Given the description of an element on the screen output the (x, y) to click on. 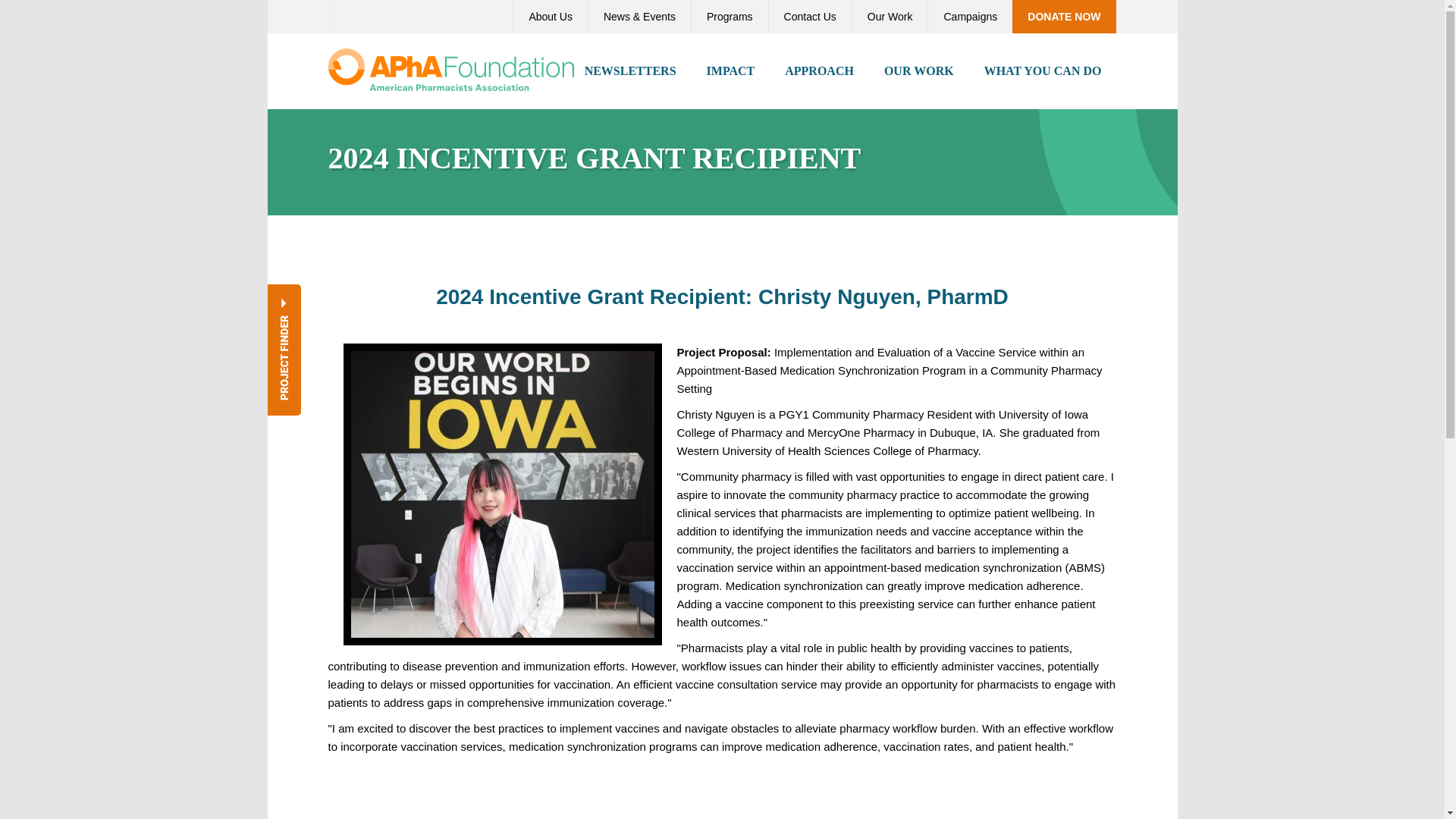
Newsletters (630, 71)
Approach (819, 71)
What You Can Do (1042, 71)
Donate Now (1063, 16)
Home (450, 68)
About Us (550, 16)
Programs (729, 16)
Contact Us (809, 16)
Our Work (889, 16)
IMPACT (730, 71)
Campaigns (969, 16)
APPROACH (819, 71)
OUR WORK (919, 71)
WHAT YOU CAN DO (1042, 71)
DONATE NOW (1063, 16)
